Given the description of an element on the screen output the (x, y) to click on. 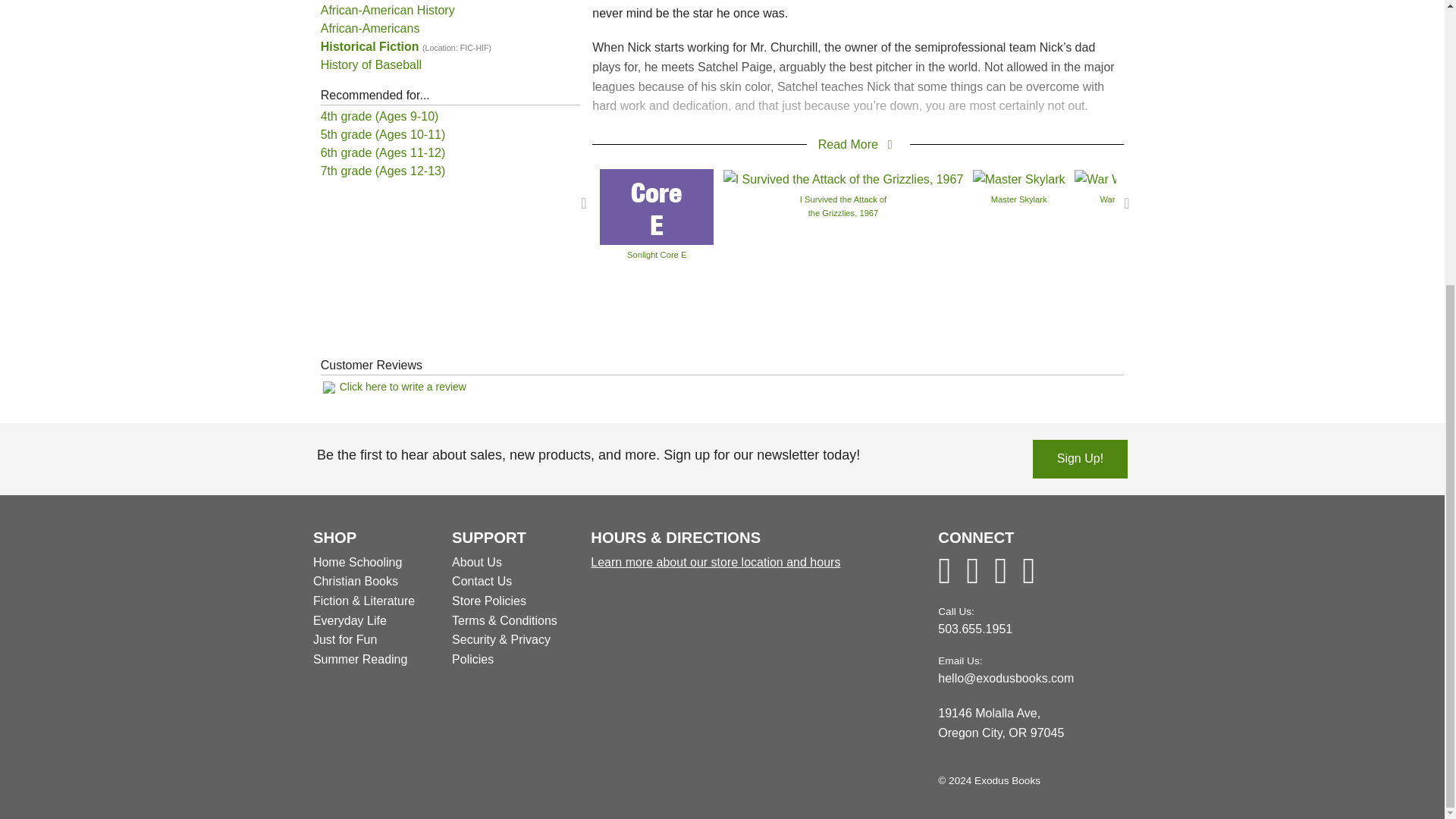
Master Skylark (1018, 178)
War Within These Walls (1144, 178)
I Survived the Attack of the Grizzlies, 1967 (843, 178)
Sonlight Core E (656, 205)
Wayah of the Real People (1300, 178)
